Given the description of an element on the screen output the (x, y) to click on. 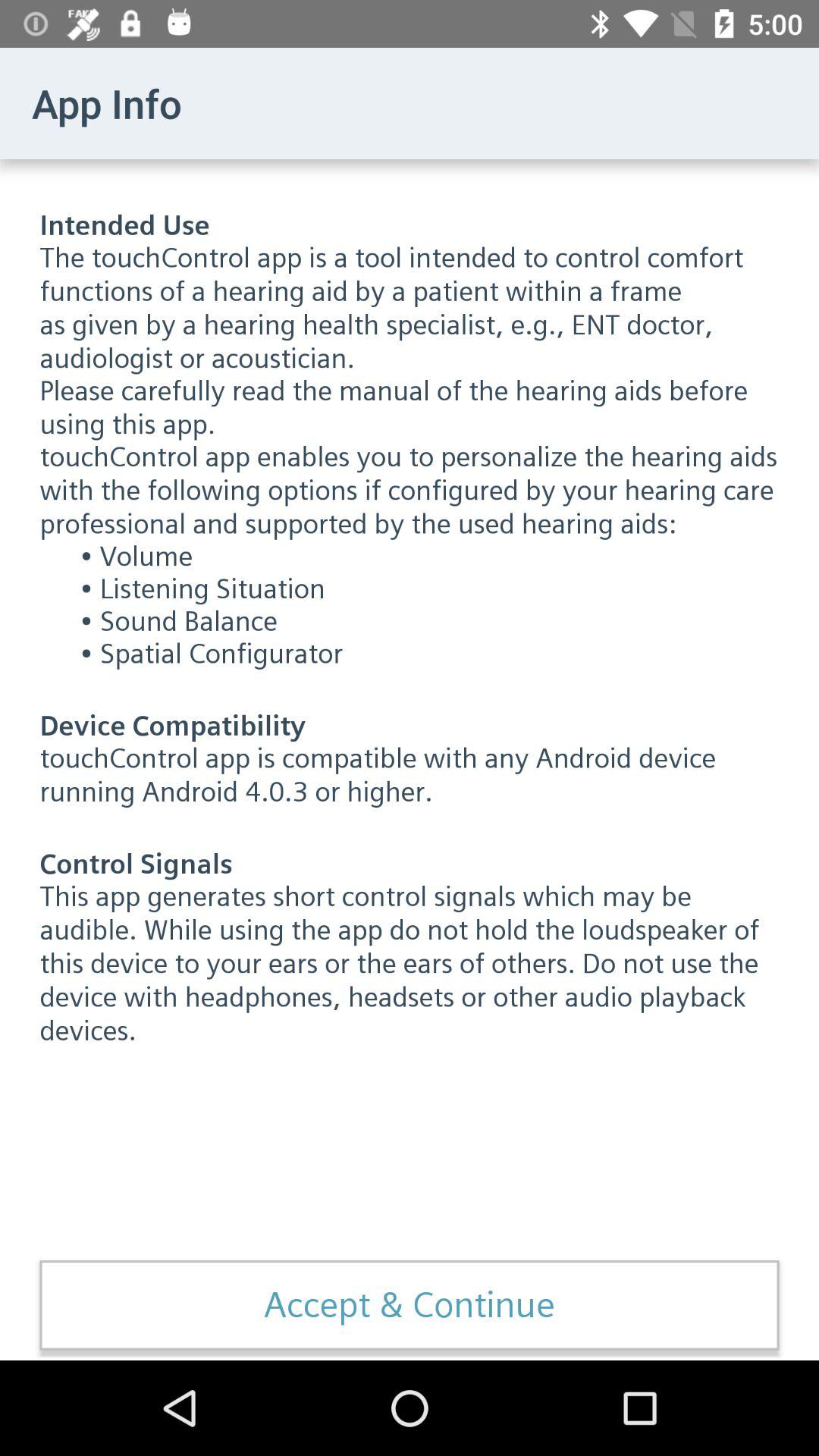
choose the accept & continue item (409, 1305)
